Given the description of an element on the screen output the (x, y) to click on. 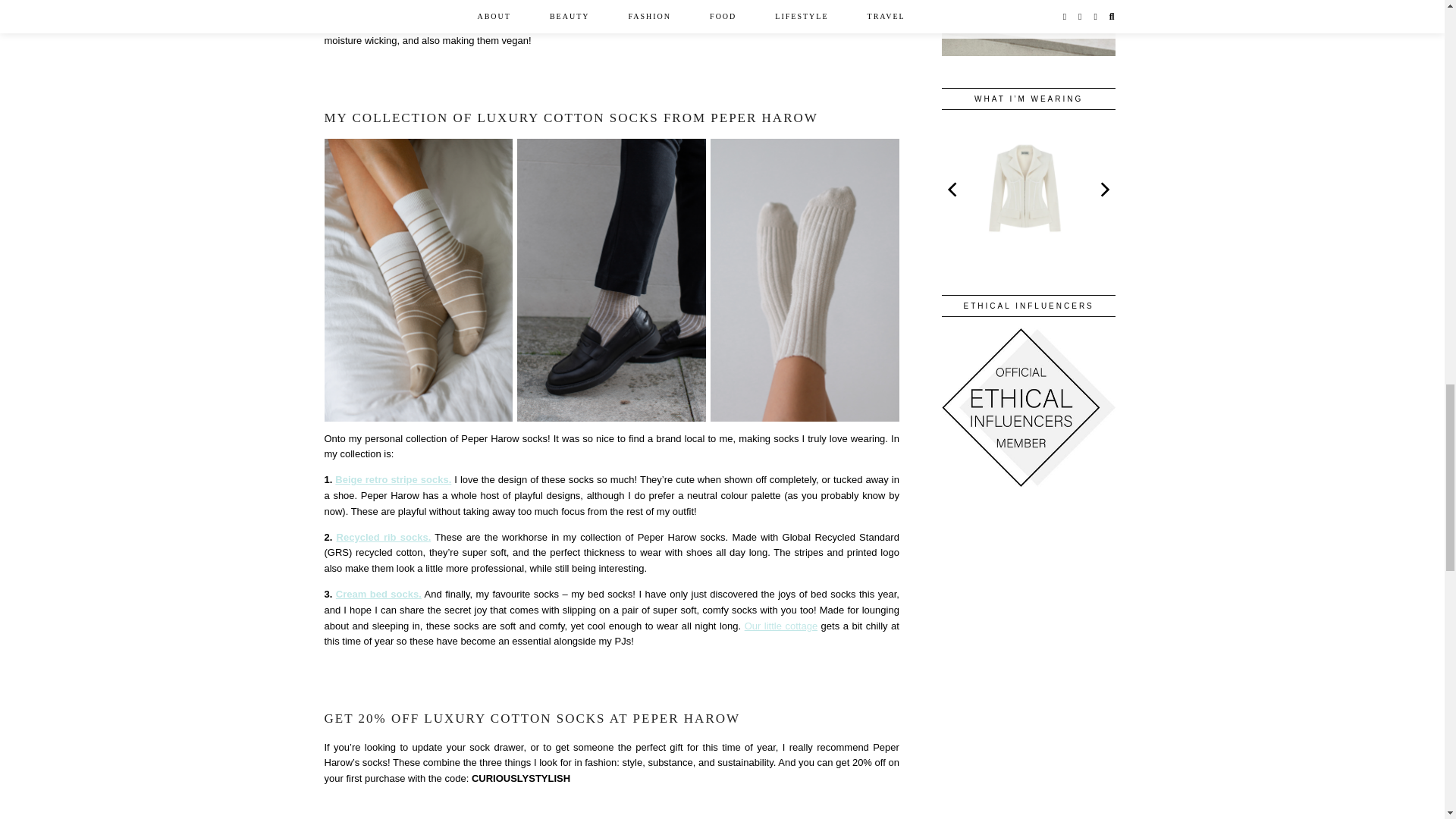
Beige retro stripe socks. (392, 479)
Recycled rib socks. (383, 536)
Cream bed socks. (379, 593)
Our little cottage (780, 625)
